Given the description of an element on the screen output the (x, y) to click on. 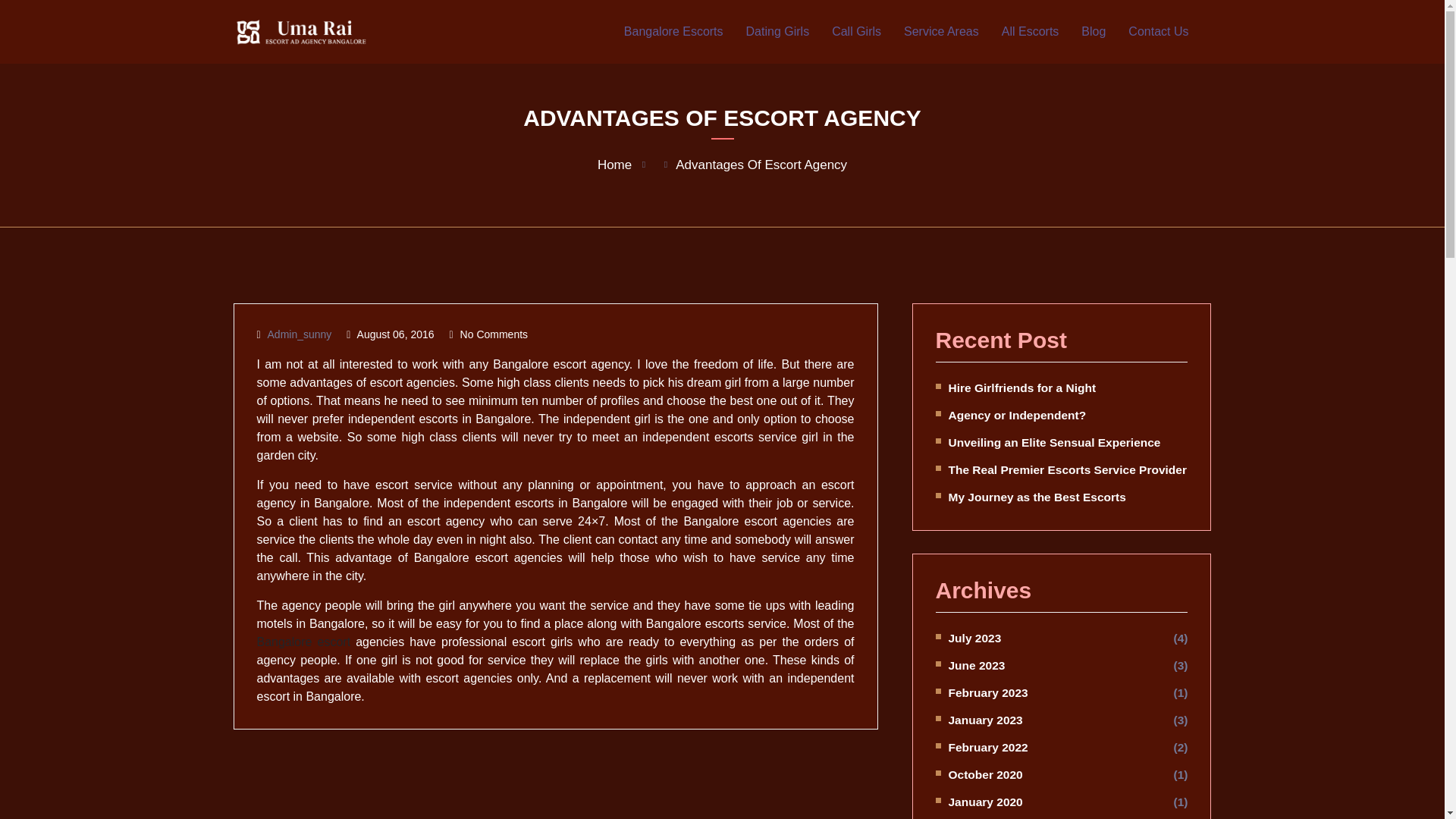
Bangalore escort (303, 641)
January 2020 (984, 801)
All Escorts (1030, 31)
Home (613, 165)
Hire Girlfriends for a Night (1021, 387)
Unveiling an Elite Sensual Experience (1053, 441)
January 2023 (984, 719)
October 2020 (984, 774)
July 2023 (974, 637)
All Escorts (1030, 31)
